Given the description of an element on the screen output the (x, y) to click on. 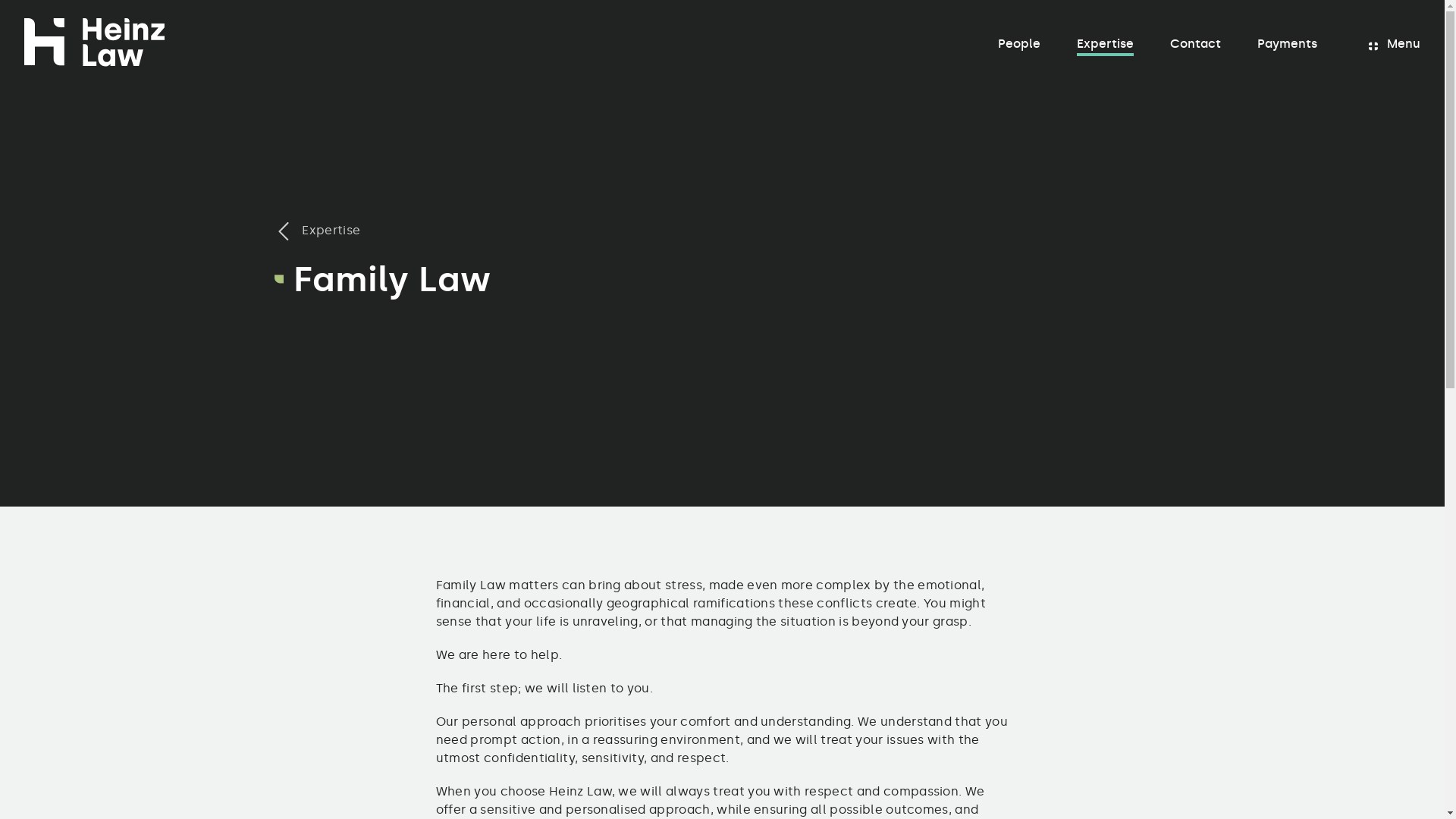
Menu Element type: text (1379, 43)
Contact Element type: text (1195, 43)
Expertise Element type: text (1104, 43)
People Element type: text (1018, 43)
Payments Element type: text (1287, 43)
Expertise Element type: text (317, 229)
